Given the description of an element on the screen output the (x, y) to click on. 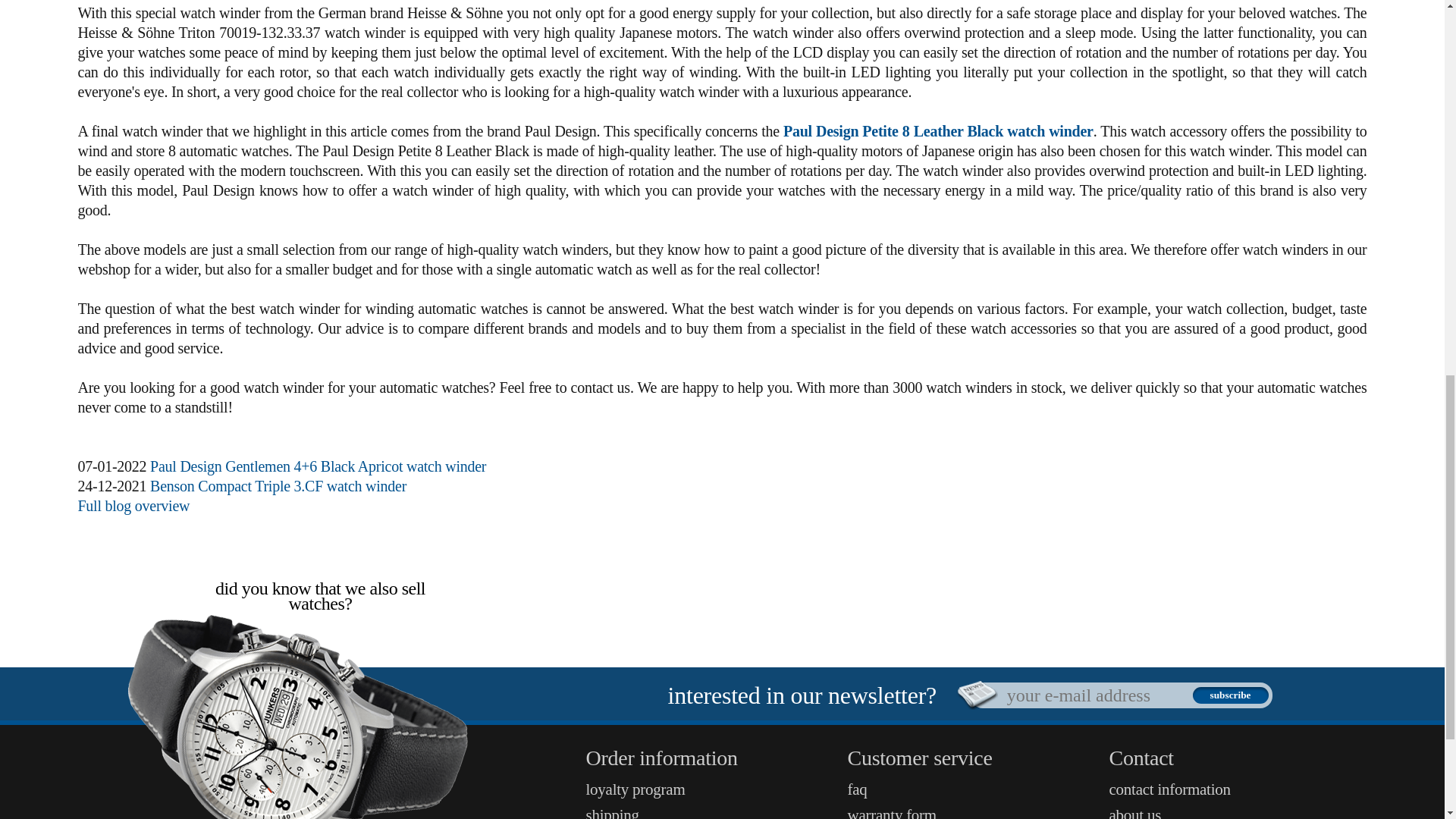
subscribe (1230, 695)
